Given the description of an element on the screen output the (x, y) to click on. 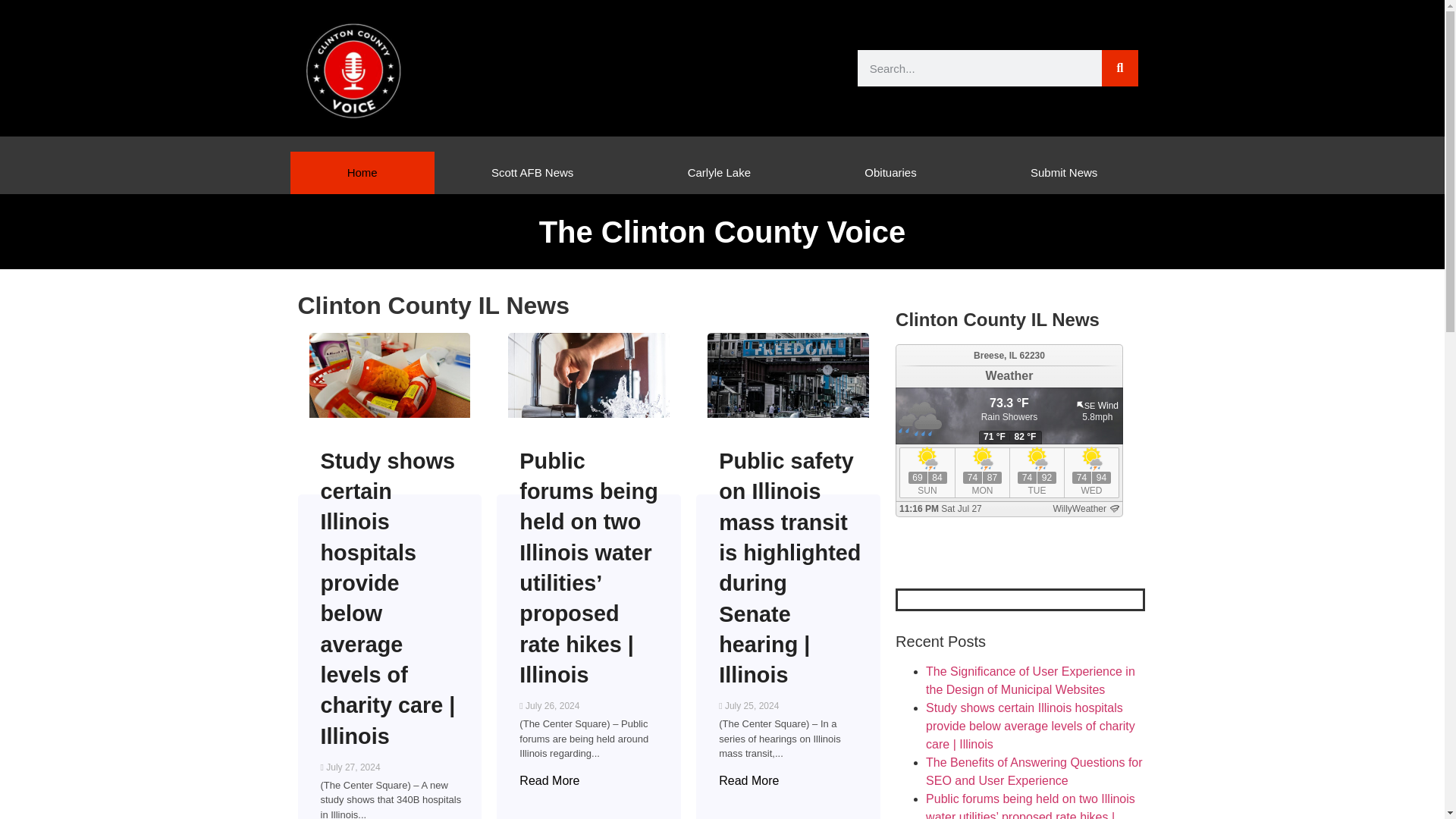
Clinton County IL News (997, 319)
Clinton County IL News (433, 305)
Carlyle Lake (719, 172)
The Clinton County Voice (721, 231)
Home (361, 172)
Read More (549, 781)
Submit News (1064, 172)
Scott AFB News (531, 172)
Read More (748, 781)
Obituaries (891, 172)
